Given the description of an element on the screen output the (x, y) to click on. 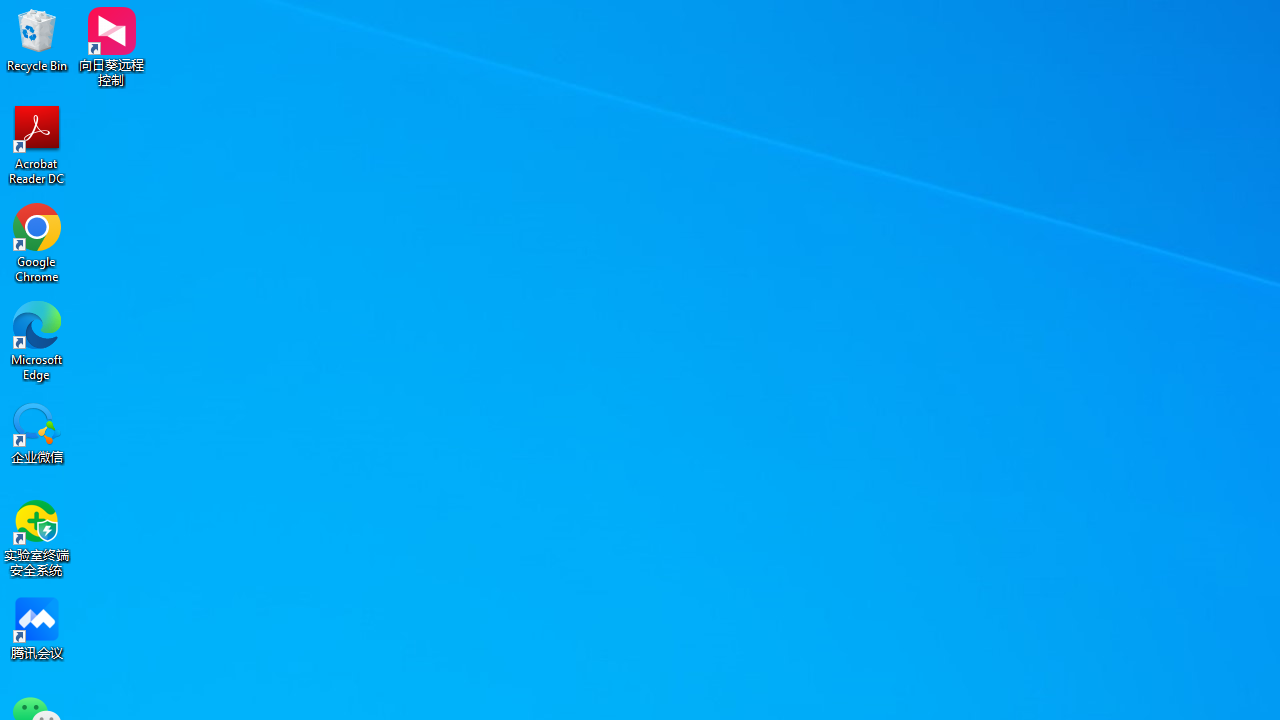
Shape Outline Blue, Accent 1 (1188, 101)
Picture Format (834, 48)
Paragraph... (926, 151)
